Given the description of an element on the screen output the (x, y) to click on. 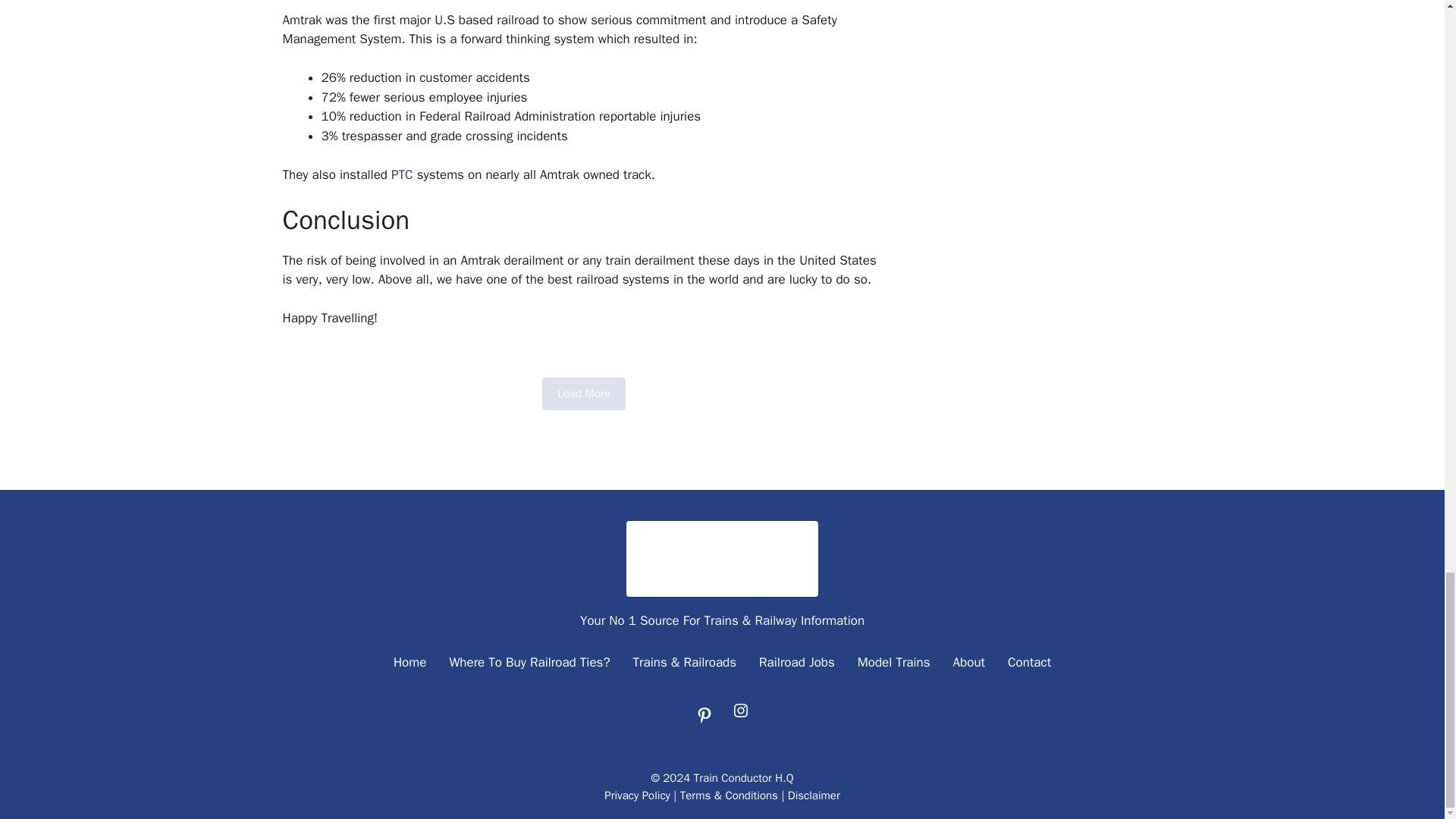
PTC (402, 174)
Load More (583, 393)
PTC (402, 174)
